Given the description of an element on the screen output the (x, y) to click on. 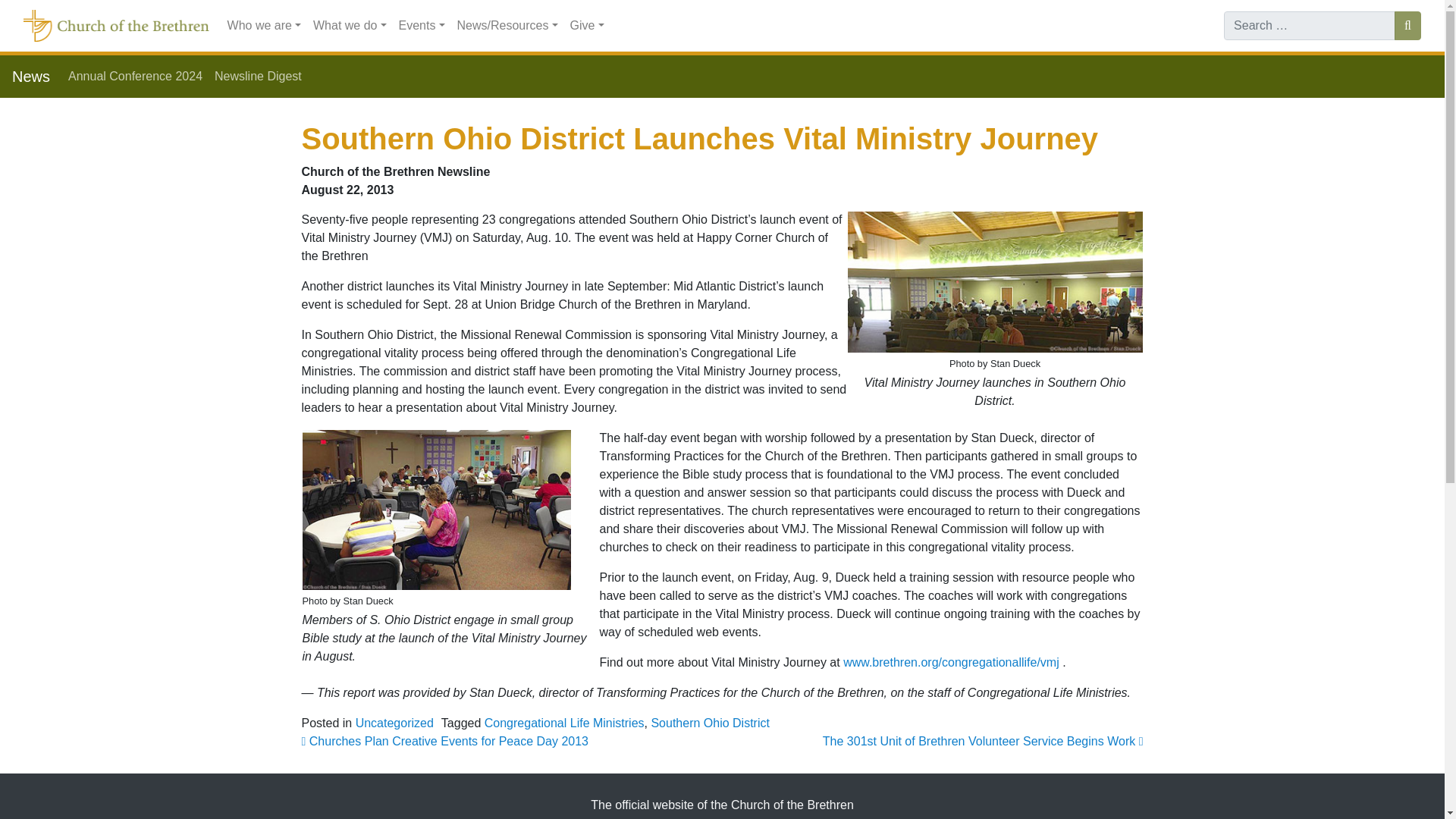
Who we are (264, 25)
What we do (350, 25)
What we do (350, 25)
Who we are (264, 25)
Events (422, 25)
